Given the description of an element on the screen output the (x, y) to click on. 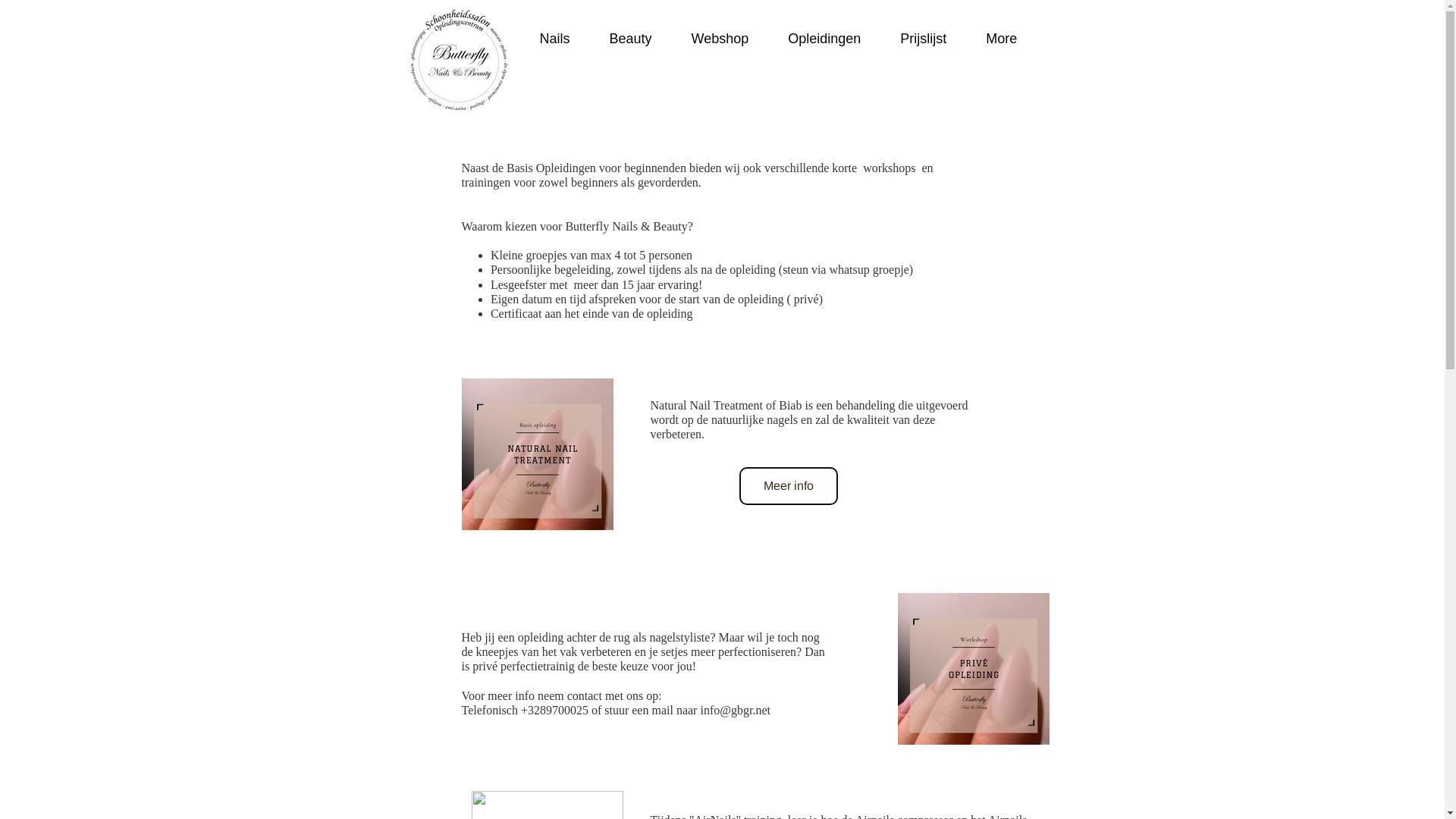
Beauty Element type: text (630, 38)
Webshop Element type: text (719, 38)
Nails Element type: text (554, 38)
More Element type: text (1001, 38)
Opleidingen Element type: text (824, 38)
Prijslijst Element type: text (923, 38)
Meer info Element type: text (787, 485)
